Given the description of an element on the screen output the (x, y) to click on. 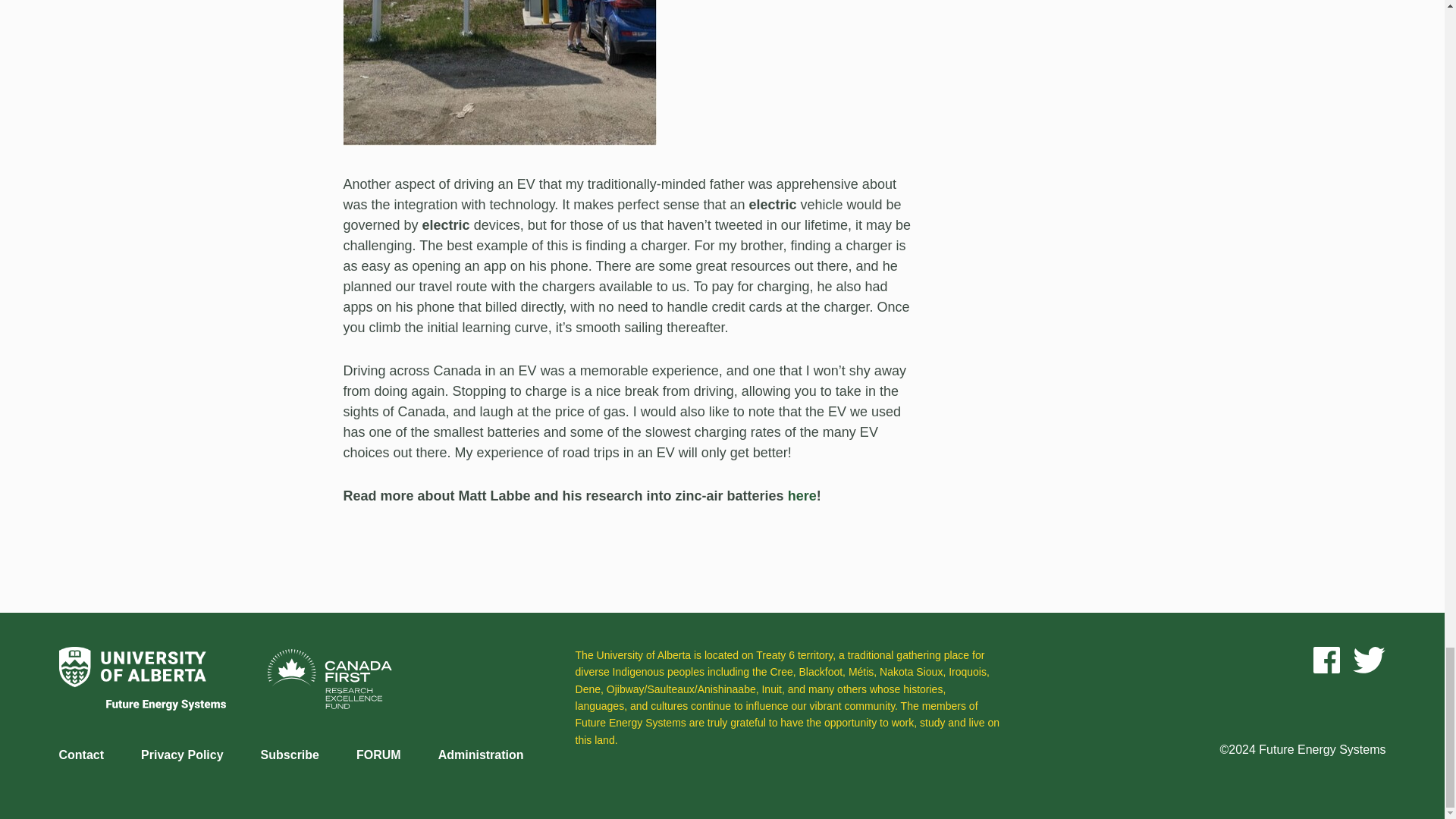
Contact (81, 754)
Facebook (1326, 660)
Twitter (1368, 660)
Privacy Policy (182, 754)
Administration (481, 754)
Canada First - Research Excellence Fund (329, 704)
FORUM (378, 754)
Subscribe (289, 754)
